Given the description of an element on the screen output the (x, y) to click on. 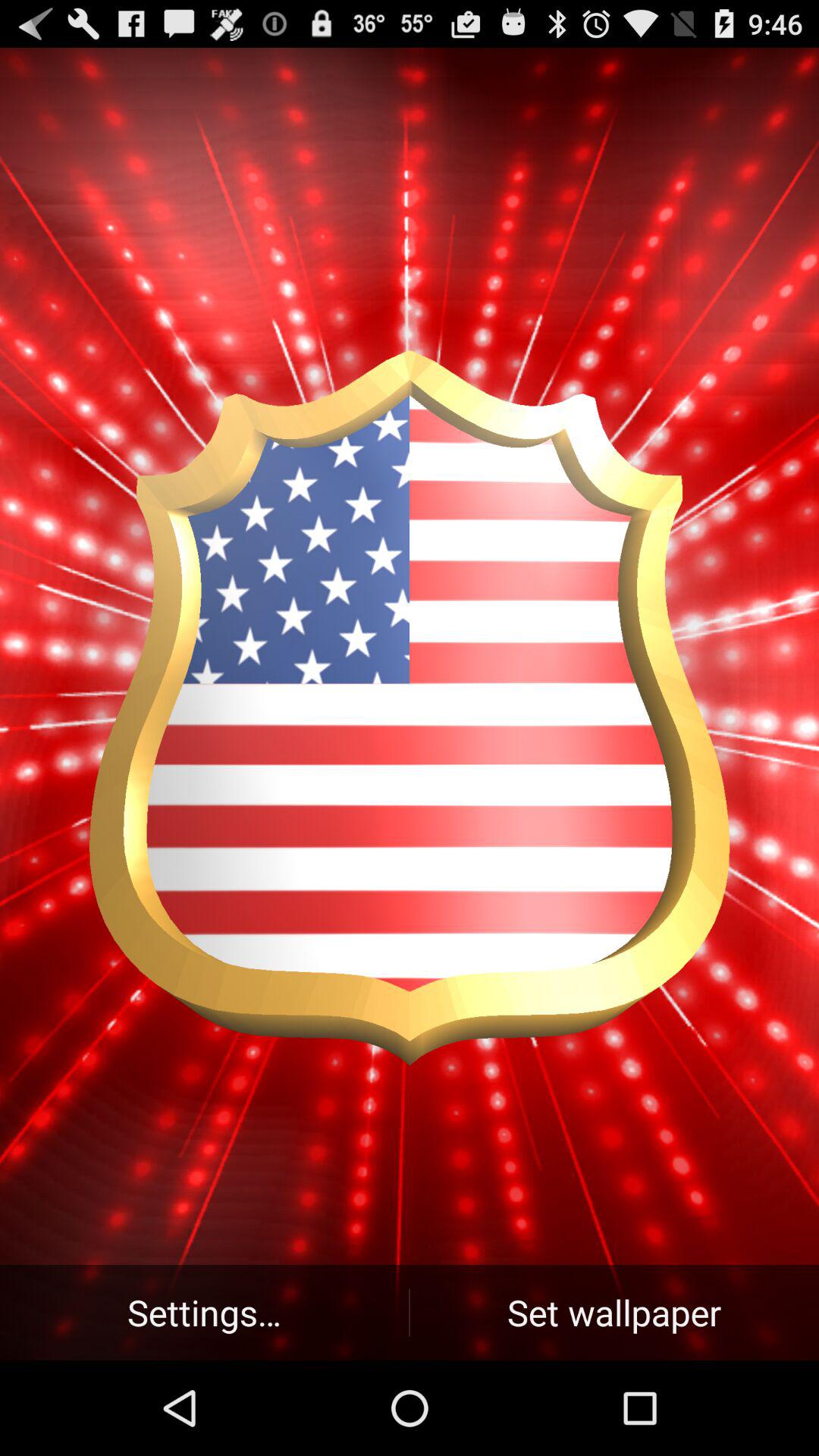
select the icon next to set wallpaper button (204, 1312)
